Given the description of an element on the screen output the (x, y) to click on. 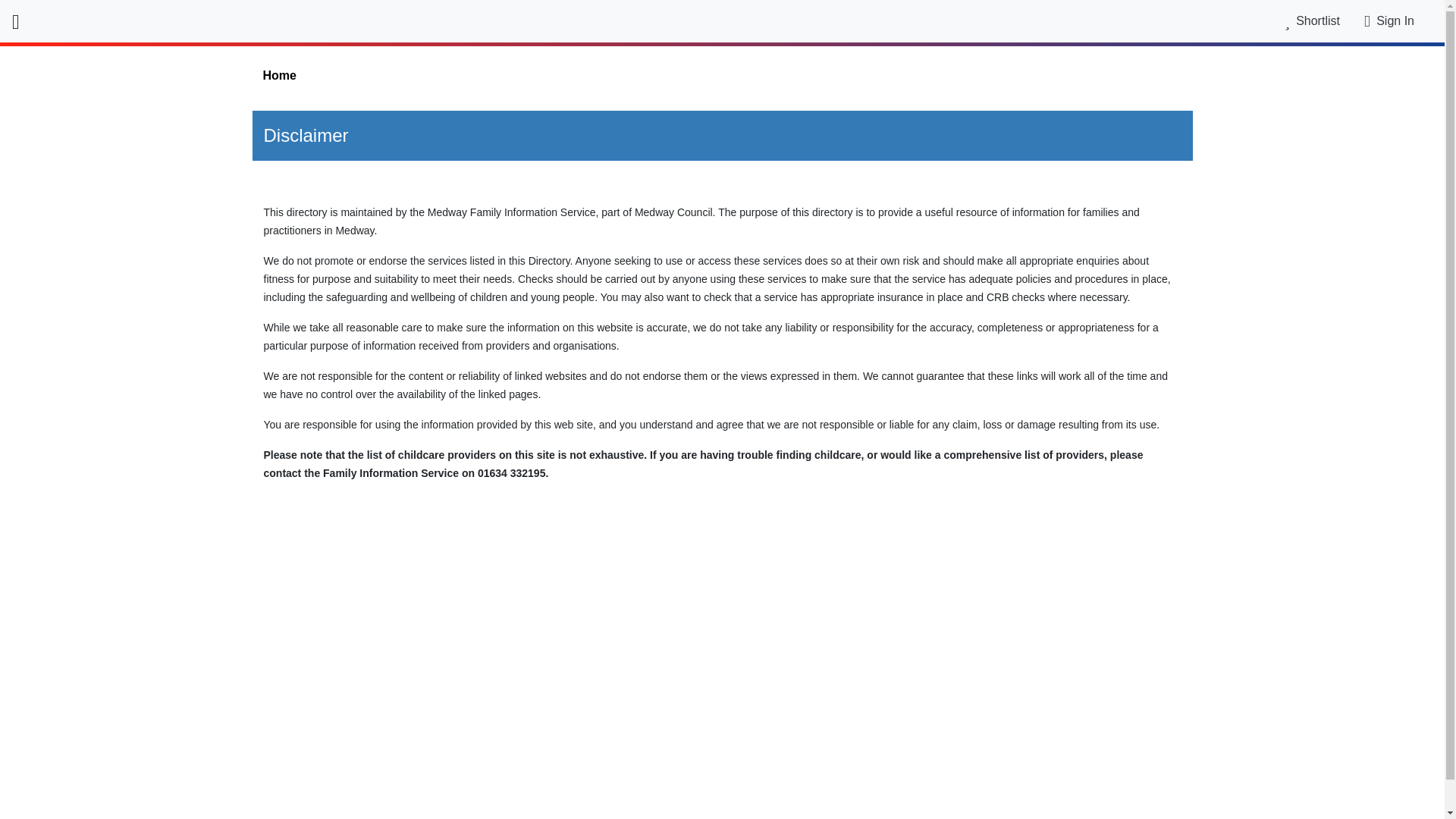
Shortlist (1311, 20)
Shortlist (1311, 20)
Home (721, 75)
Sign In (1394, 20)
